Given the description of an element on the screen output the (x, y) to click on. 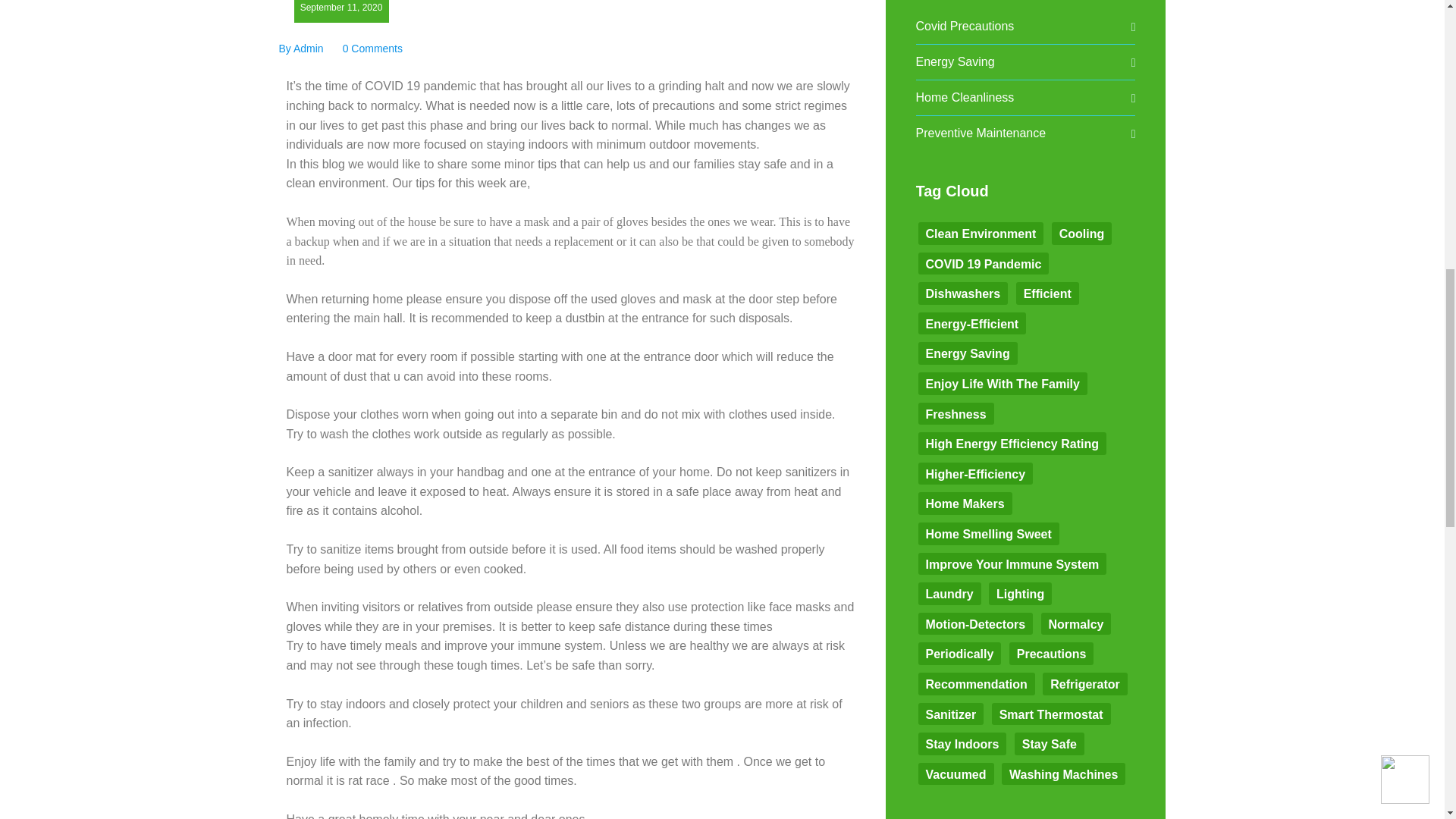
Energy Saving (954, 61)
0 Comments (372, 48)
By Admin (301, 48)
Home Cleanliness (964, 97)
Preventive Maintenance (980, 133)
Cooling (1081, 232)
Clean Environment (980, 232)
Covid Precautions (964, 26)
COVID 19 Pandemic (982, 263)
